Given the description of an element on the screen output the (x, y) to click on. 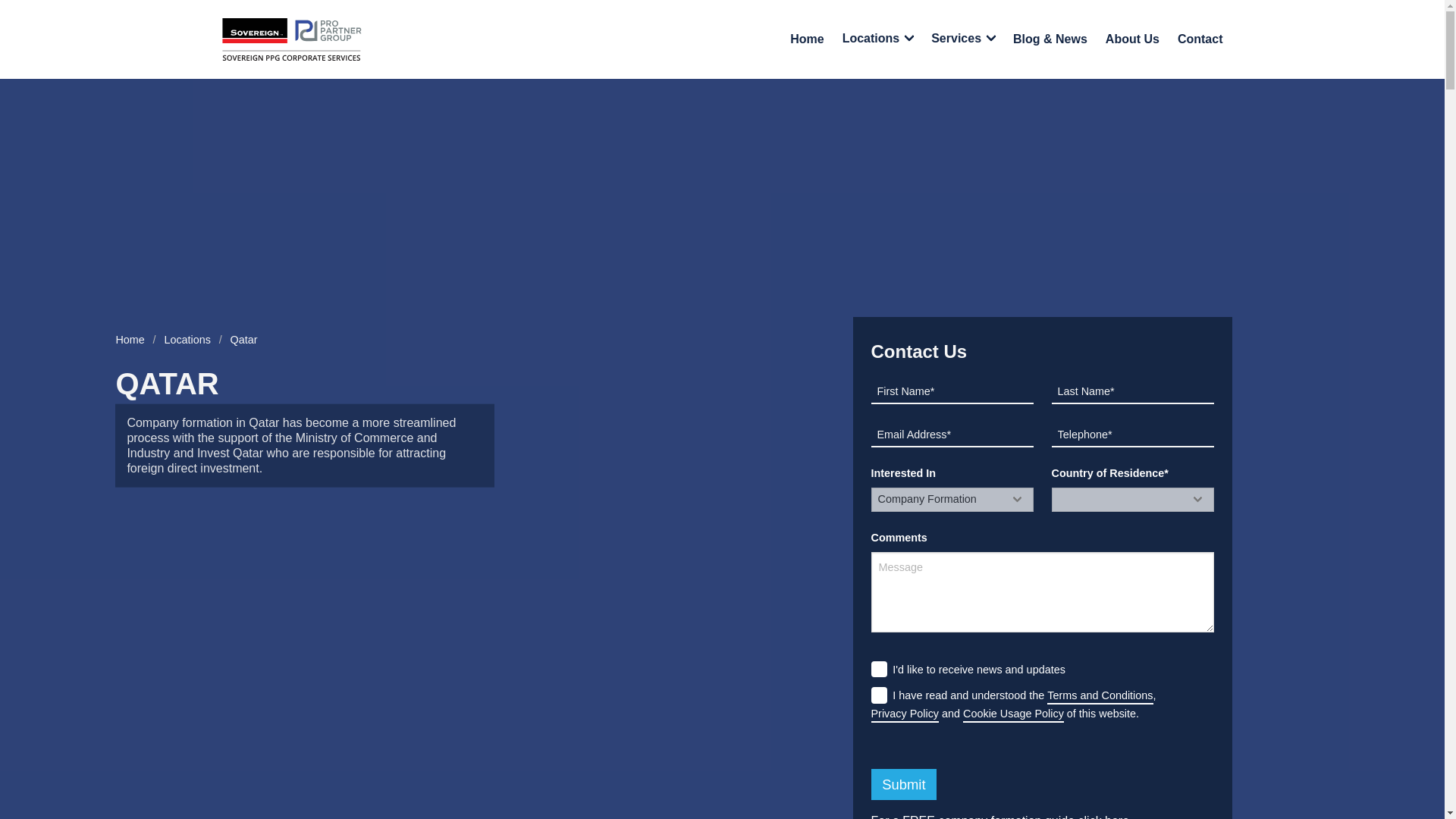
Locations (187, 340)
Home (806, 39)
Services (962, 38)
Locations (877, 38)
click here (1103, 815)
Contact (1200, 39)
Last Name (1131, 392)
Submit (903, 784)
Qatar (244, 340)
First Name (951, 392)
Submit (903, 784)
Cookie Usage Policy (1013, 714)
Terms and Conditions (1099, 696)
Privacy Policy (904, 714)
About Us (1132, 39)
